Given the description of an element on the screen output the (x, y) to click on. 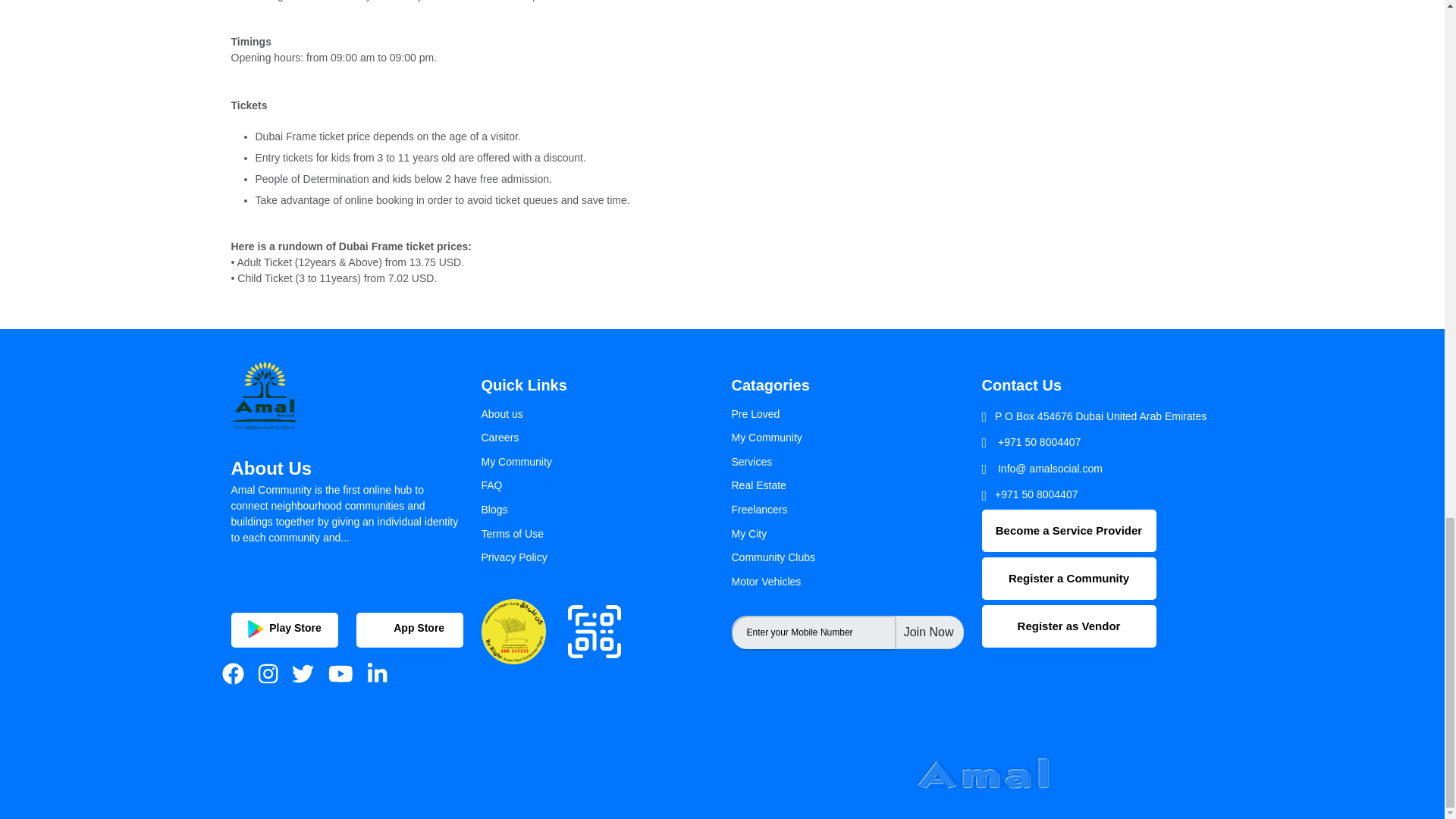
Pre Loved (754, 413)
Careers (499, 437)
Blogs (493, 509)
My Community (515, 461)
Terms of Use (511, 533)
FAQ (491, 485)
App Store (409, 629)
Services (750, 461)
Privacy Policy (513, 557)
About us (501, 413)
Play Store (283, 629)
My Community (766, 437)
